Given the description of an element on the screen output the (x, y) to click on. 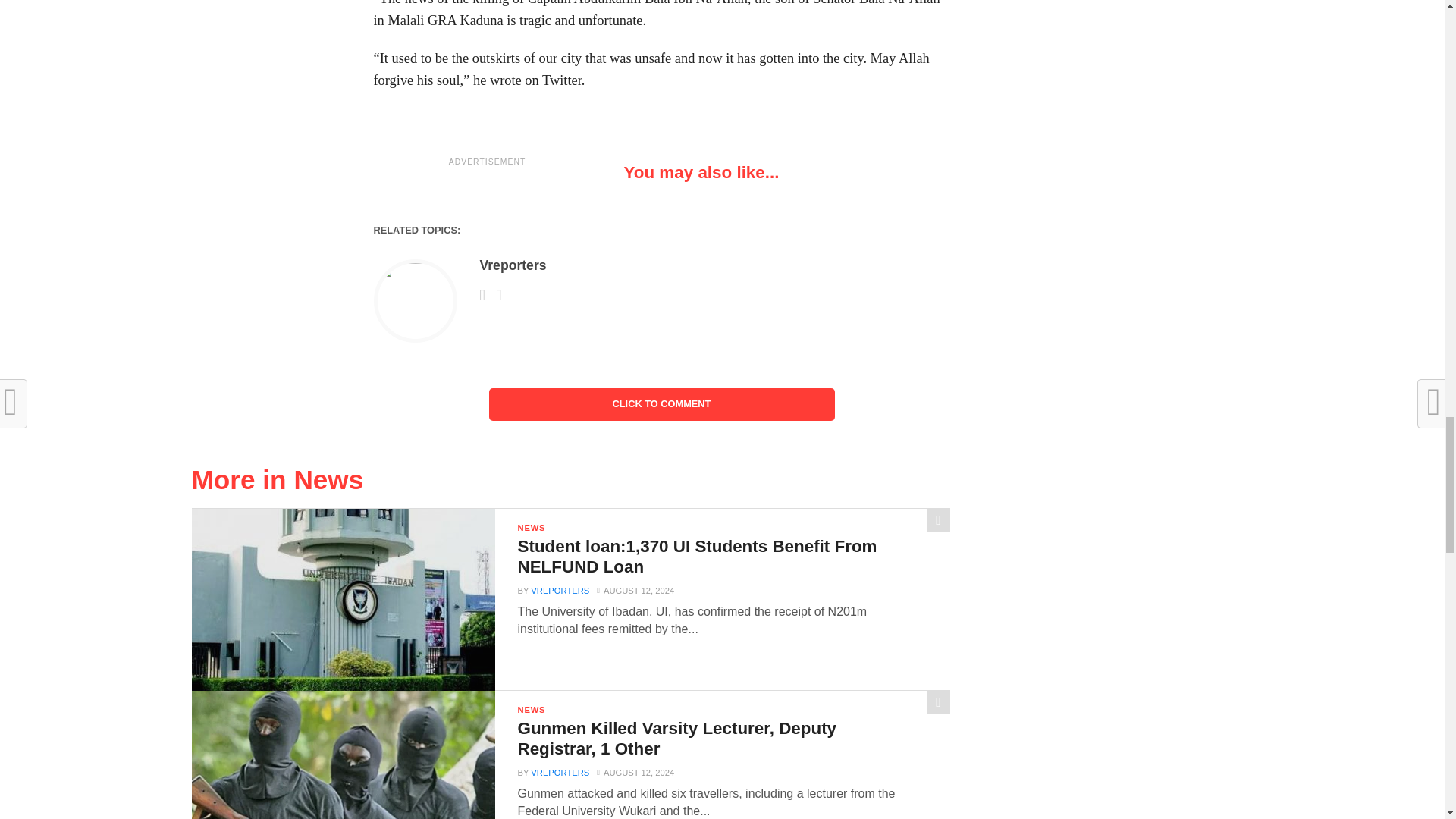
Posts by Vreporters (512, 264)
VREPORTERS (560, 590)
Vreporters (512, 264)
